Given the description of an element on the screen output the (x, y) to click on. 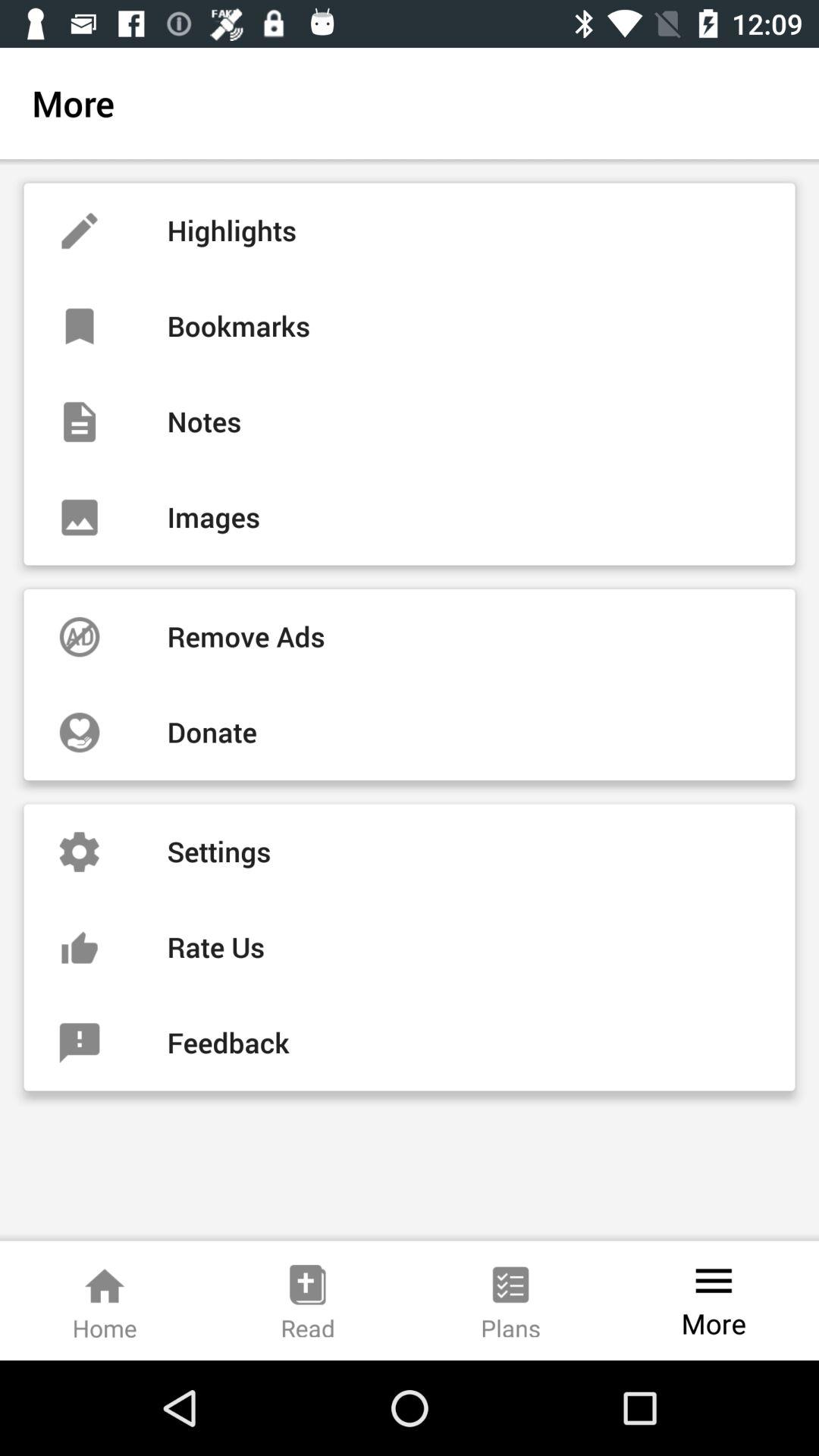
scroll to the feedback item (409, 1042)
